Given the description of an element on the screen output the (x, y) to click on. 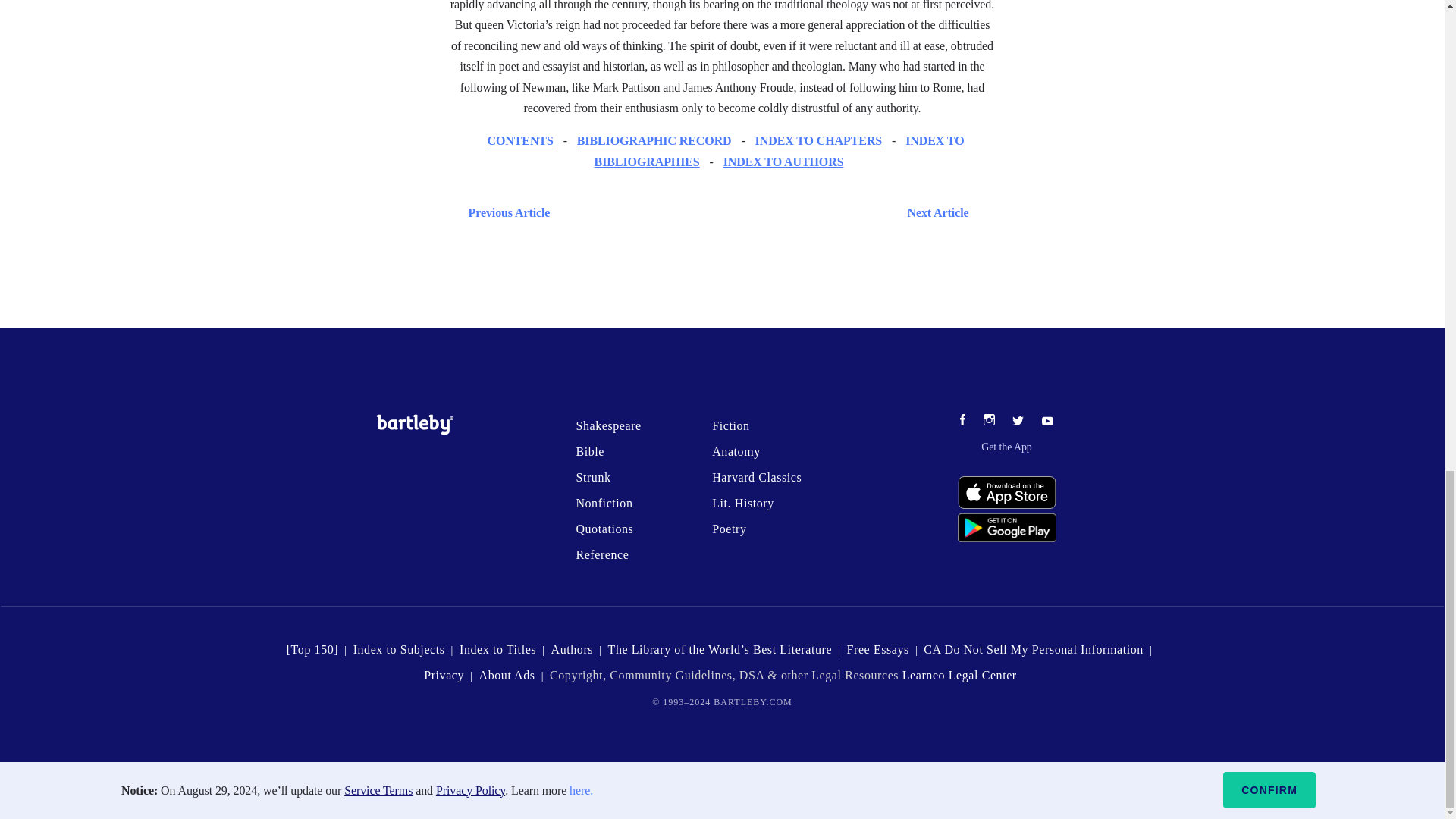
BIBLIOGRAPHIC RECORD (654, 140)
Strunk (592, 477)
INDEX TO BIBLIOGRAPHIES (778, 150)
Next Article (766, 212)
Anatomy (735, 451)
Quotations (604, 528)
Fiction (730, 425)
CONTENTS (519, 140)
Bible (589, 451)
INDEX TO AUTHORS (783, 161)
